Given the description of an element on the screen output the (x, y) to click on. 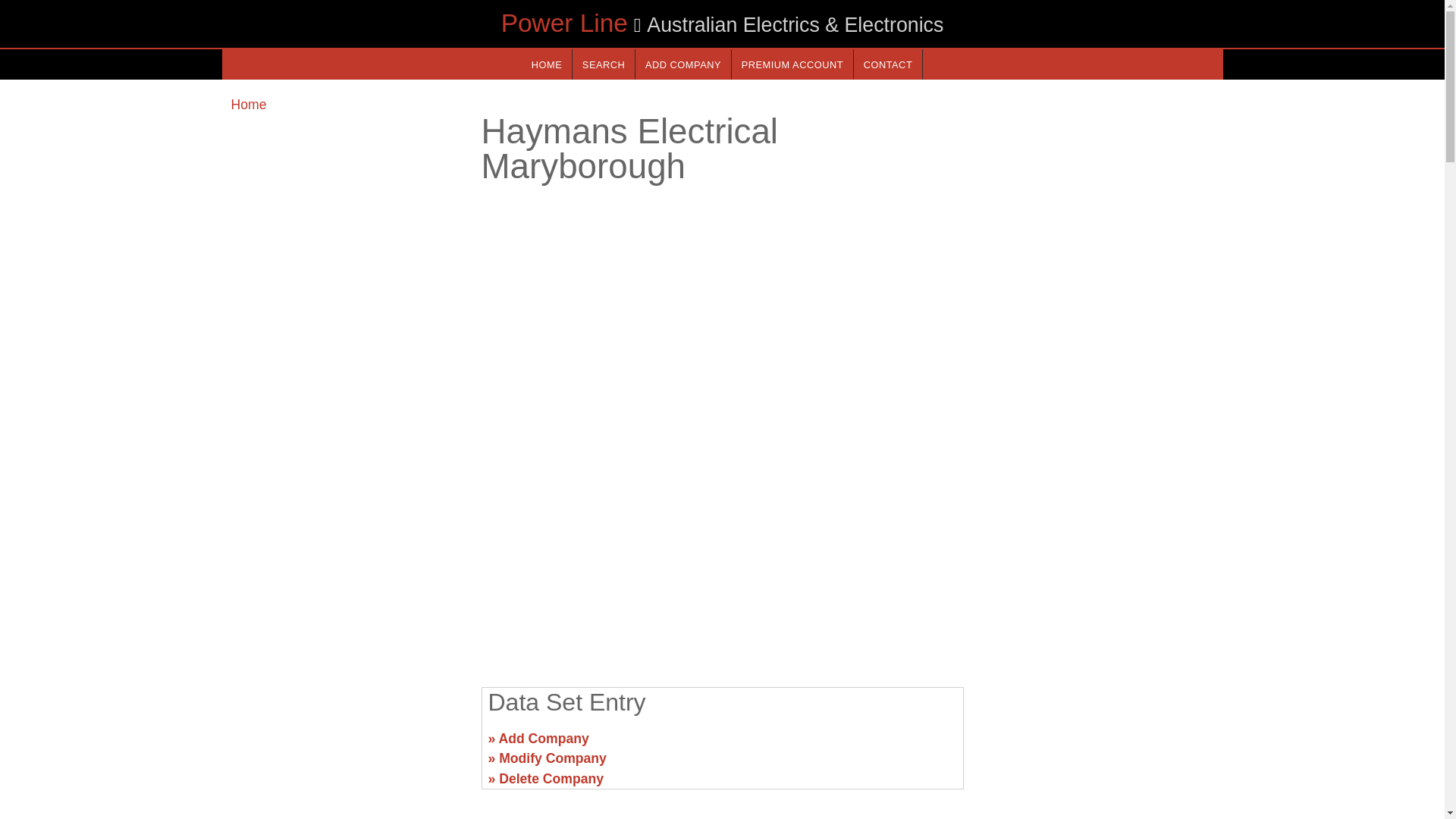
Advertisement (721, 557)
HOME (546, 64)
Power Line (563, 22)
SEARCH (603, 64)
Advertisement (346, 710)
ADD COMPANY (682, 64)
Home (248, 104)
CONTACT (887, 64)
Add a new company (682, 64)
Premium account (792, 64)
Search in this webseite. (603, 64)
PREMIUM ACCOUNT (792, 64)
Advertisement (1096, 710)
